Given the description of an element on the screen output the (x, y) to click on. 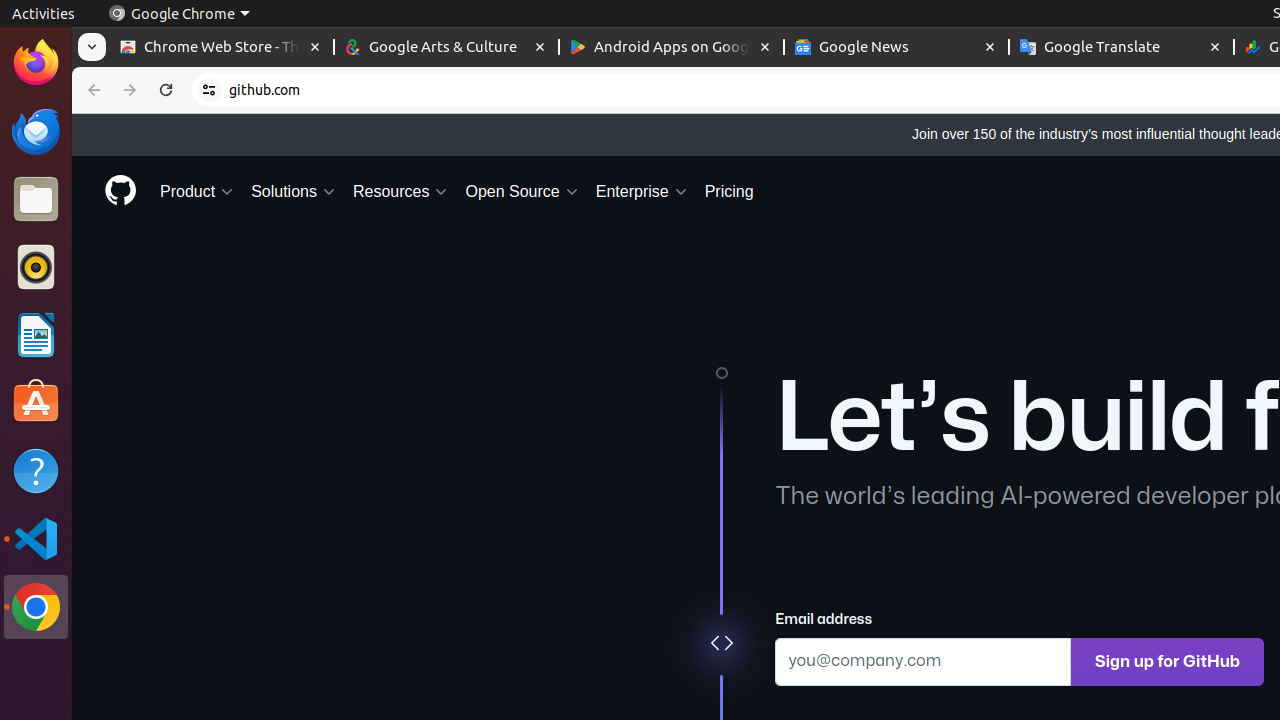
Open Source Element type: push-button (522, 191)
Visual Studio Code Element type: push-button (36, 538)
Help Element type: push-button (36, 470)
Firefox Web Browser Element type: push-button (36, 63)
Homepage Element type: link (120, 191)
